Given the description of an element on the screen output the (x, y) to click on. 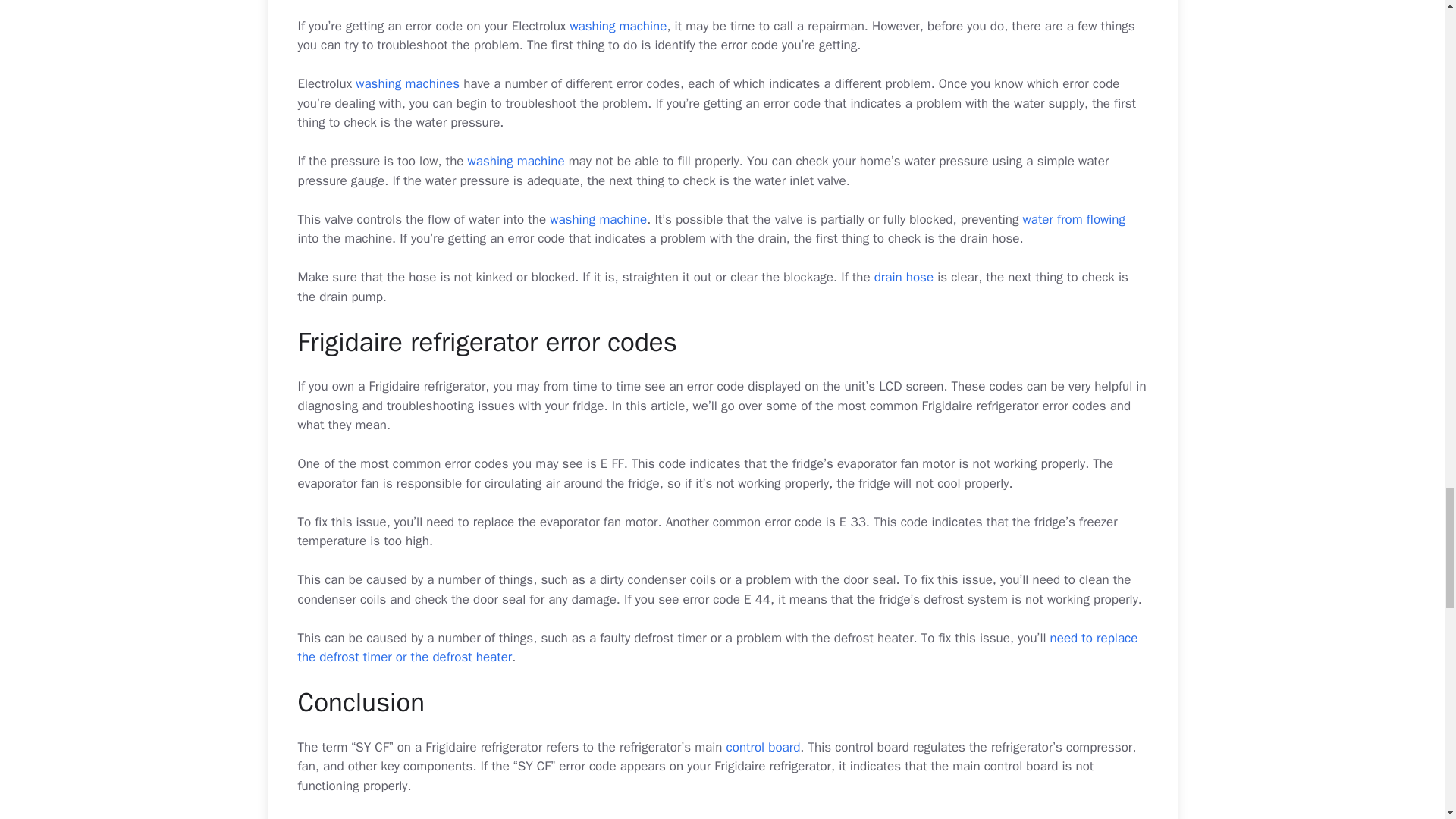
need to replace the defrost timer or the defrost heater (717, 647)
drain hose (904, 277)
control board (763, 747)
washing machine (598, 219)
water from flowing (1074, 219)
washing machine (515, 160)
washing machines (407, 83)
washing machine (617, 26)
